Given the description of an element on the screen output the (x, y) to click on. 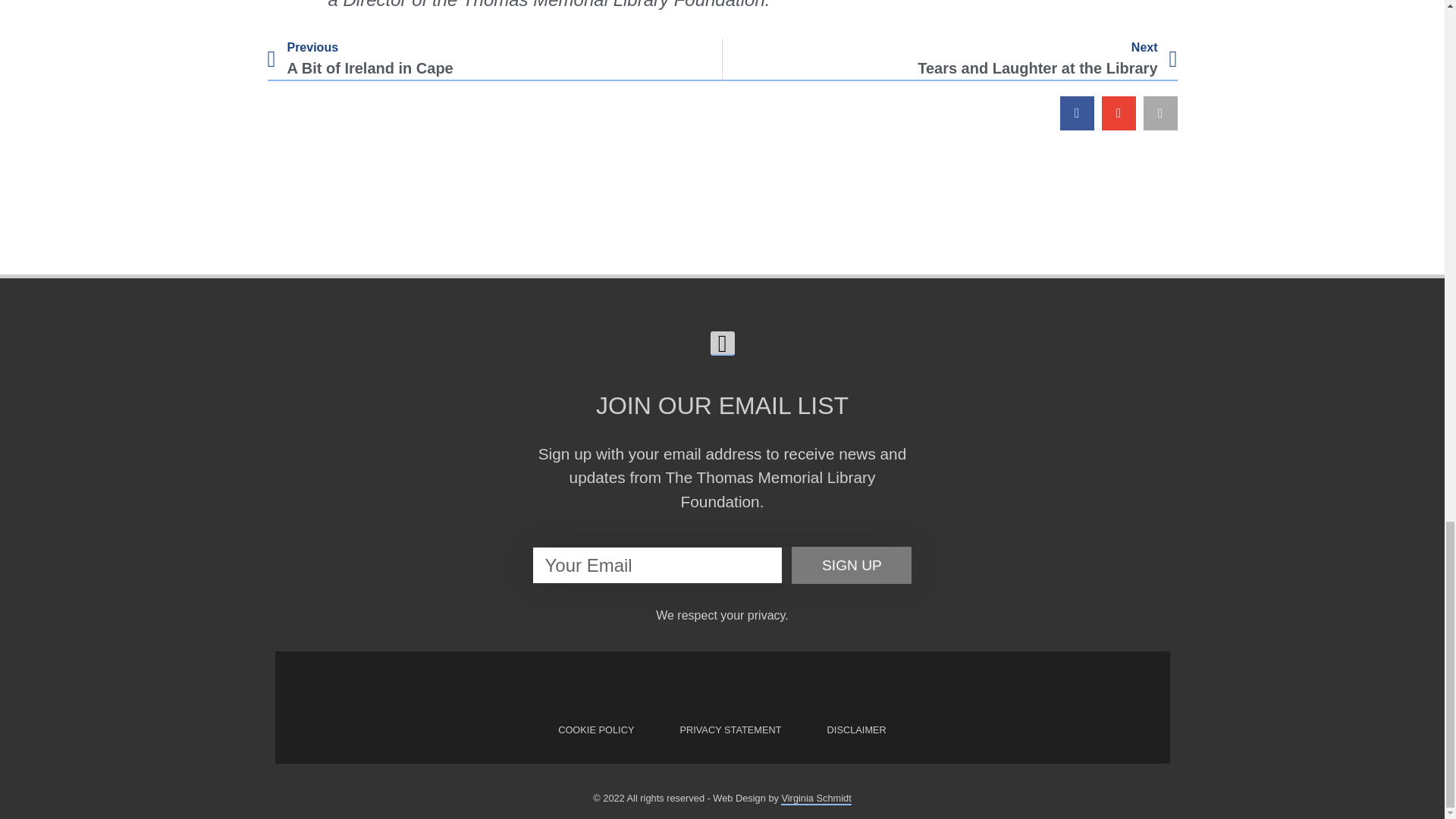
COOKIE POLICY (596, 730)
DISCLAIMER (494, 59)
PRIVACY STATEMENT (949, 59)
SIGN UP (856, 730)
